Given the description of an element on the screen output the (x, y) to click on. 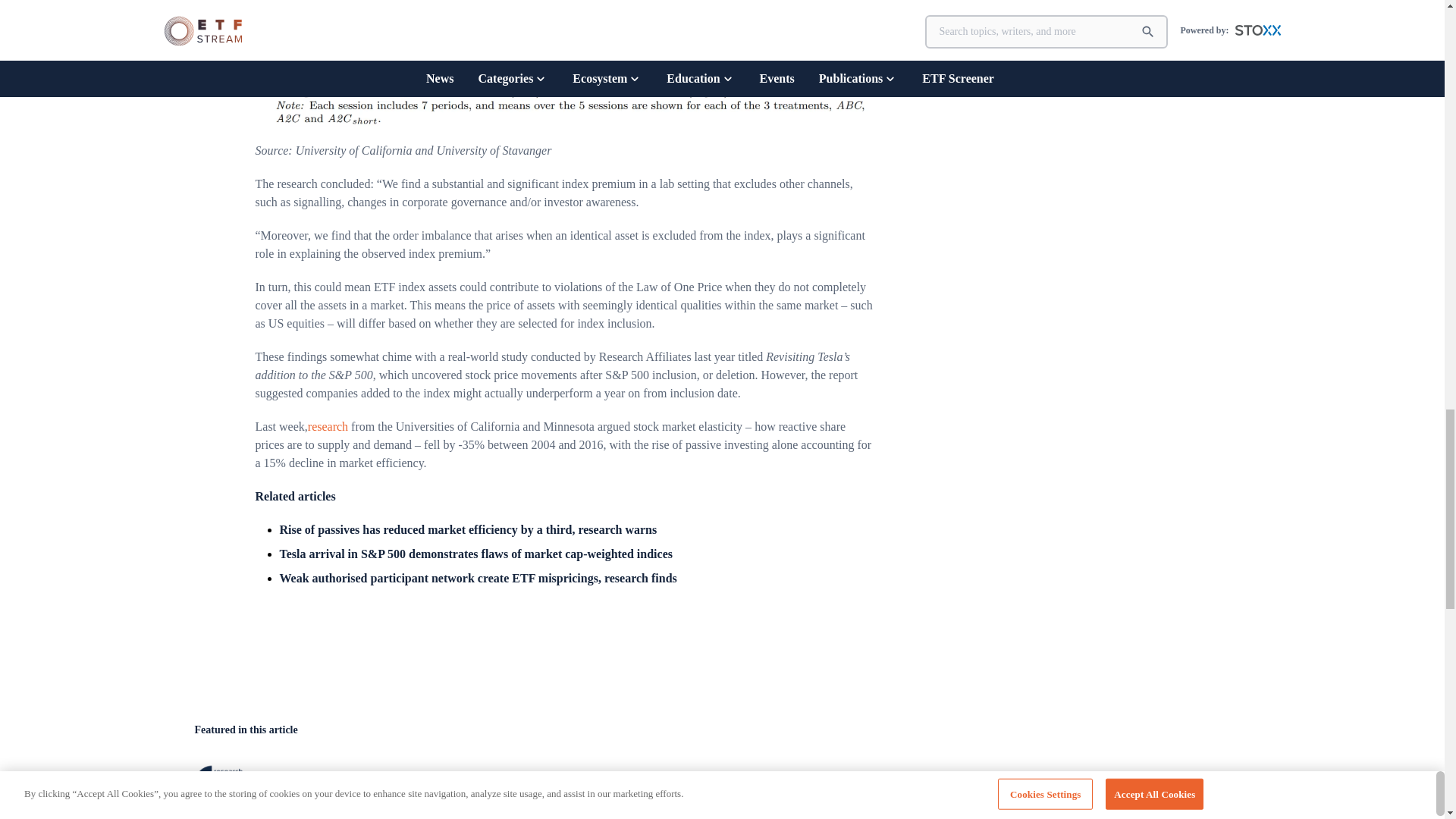
research (327, 426)
